Given the description of an element on the screen output the (x, y) to click on. 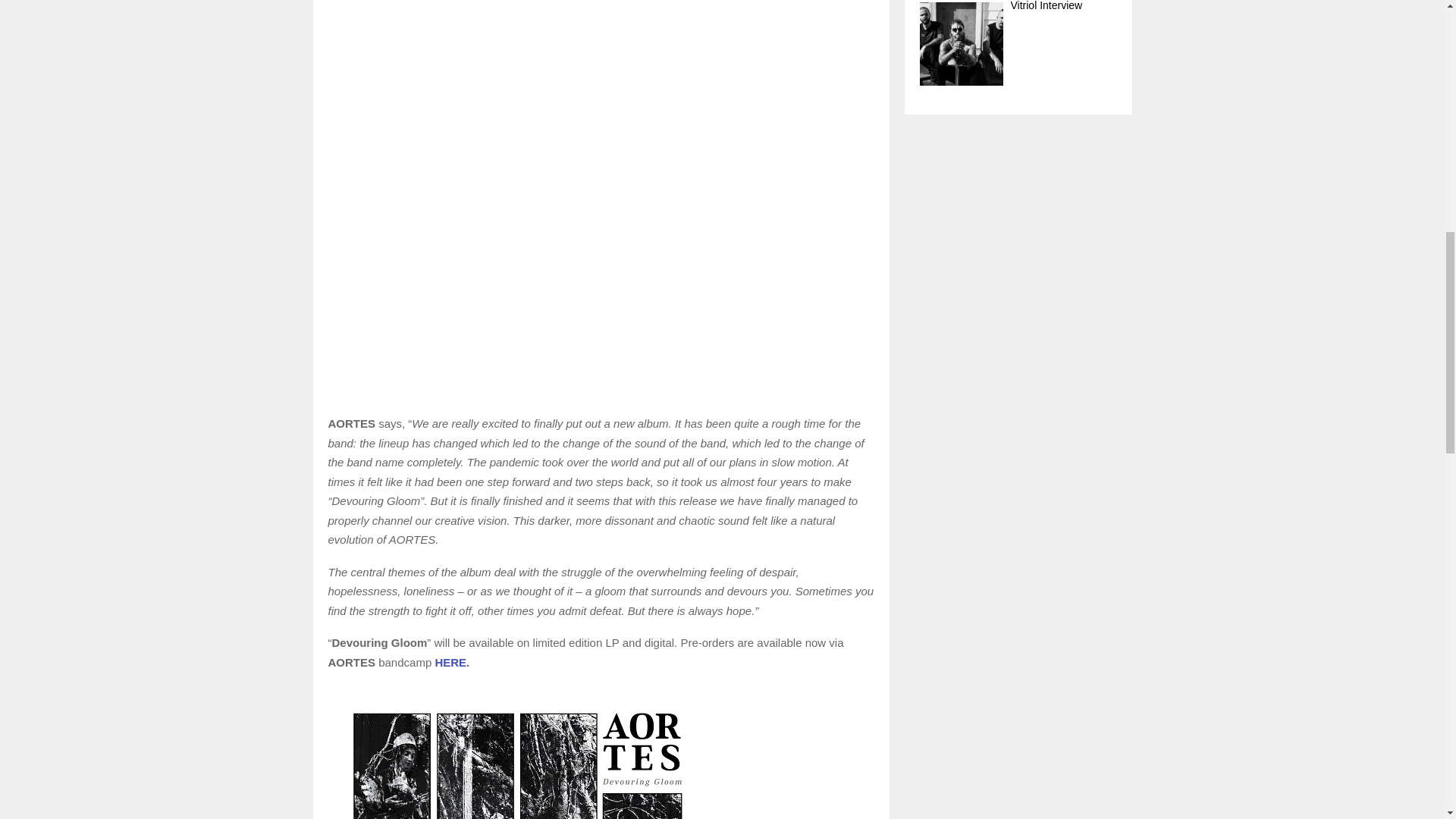
HERE (449, 662)
